Given the description of an element on the screen output the (x, y) to click on. 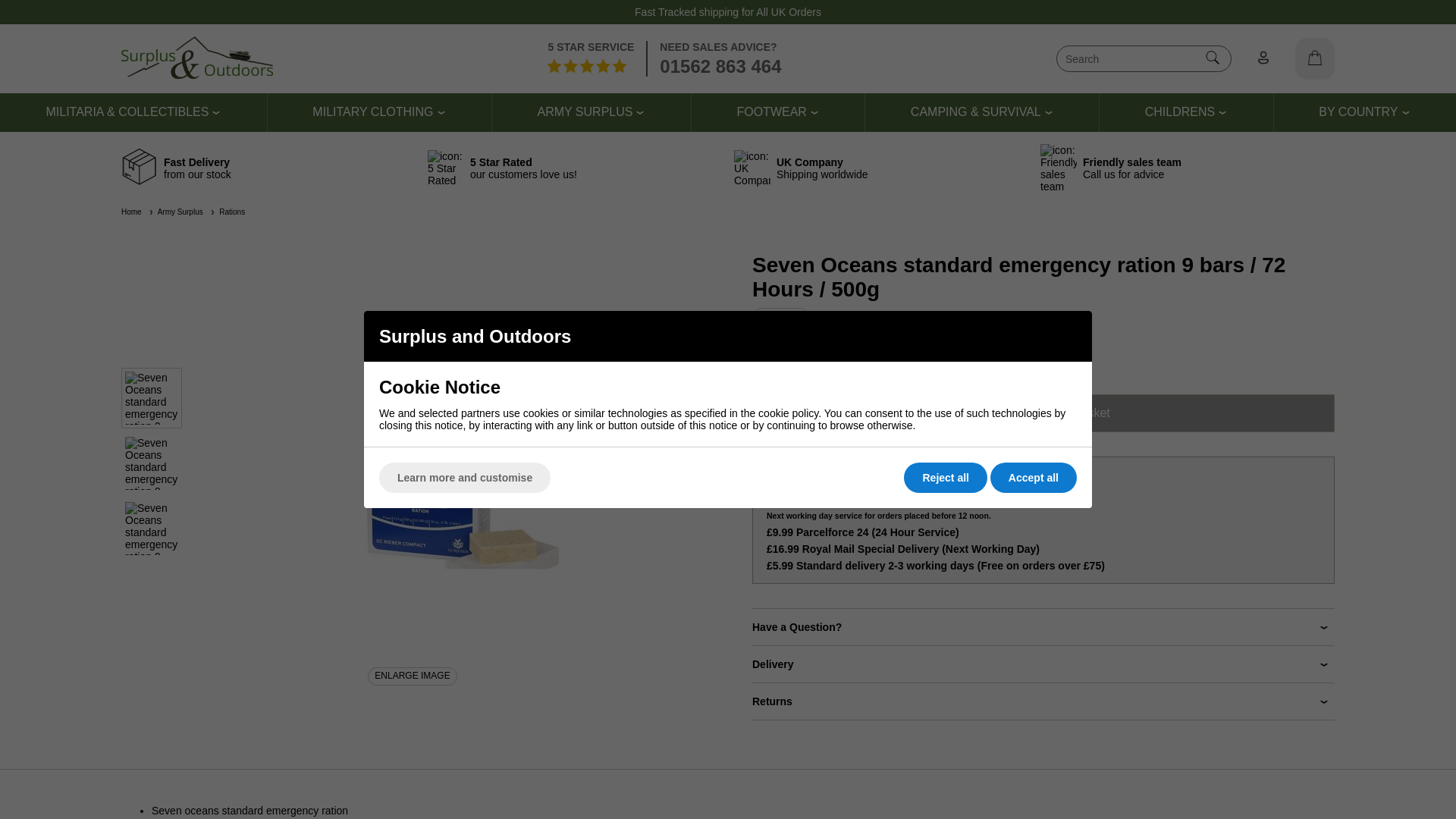
ARMY SURPLUS (584, 111)
1 (774, 412)
FOOTWEAR (771, 111)
01562 863 464 (719, 66)
MILITARY CLOTHING (372, 111)
BY COUNTRY (1358, 111)
CHILDRENS (1179, 111)
